Given the description of an element on the screen output the (x, y) to click on. 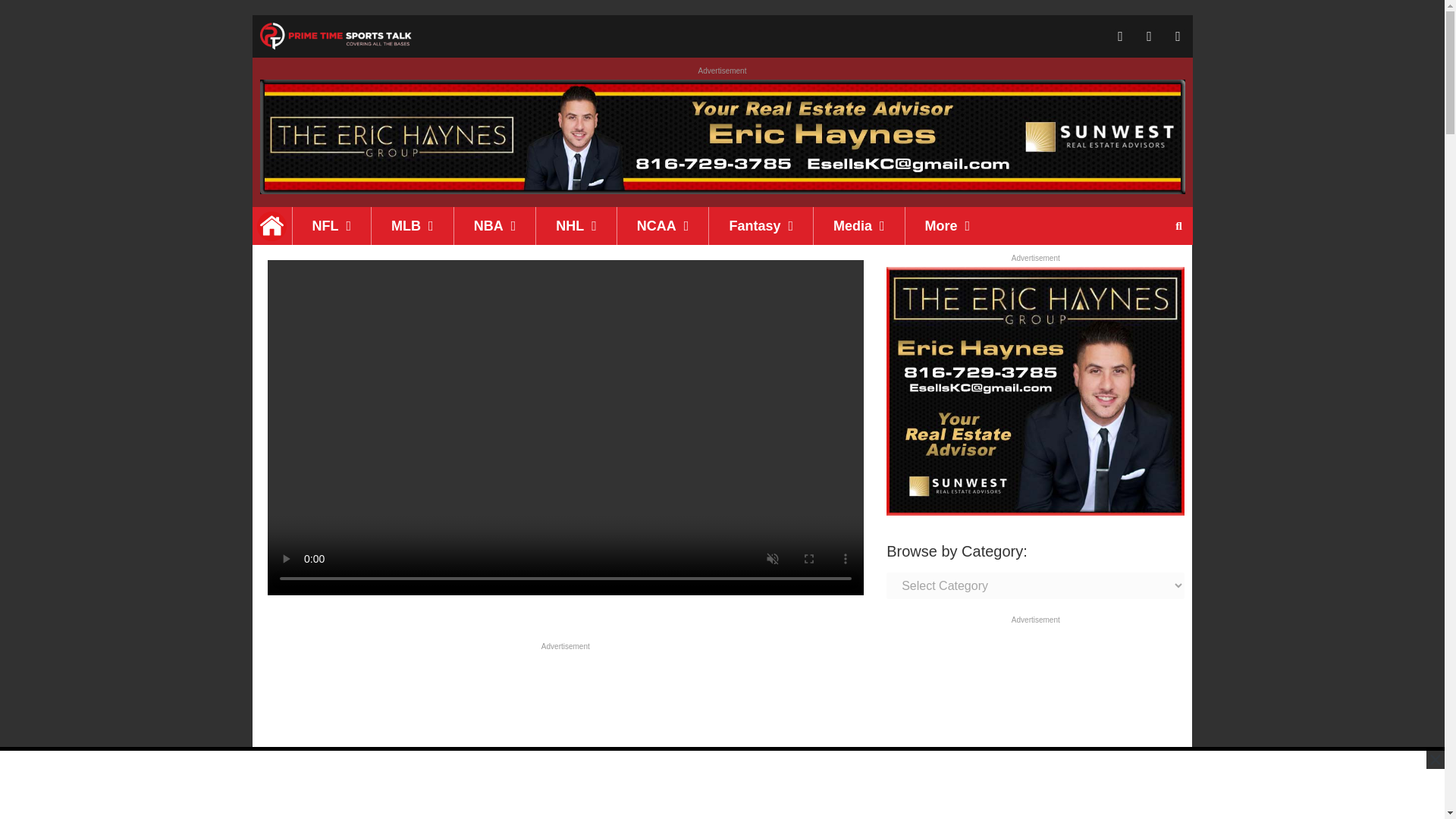
MLB (411, 225)
3rd party ad content (1035, 723)
NHL (575, 225)
NFL (331, 225)
Home (271, 225)
3rd party ad content (721, 785)
NBA (494, 225)
3rd party ad content (564, 737)
